Given the description of an element on the screen output the (x, y) to click on. 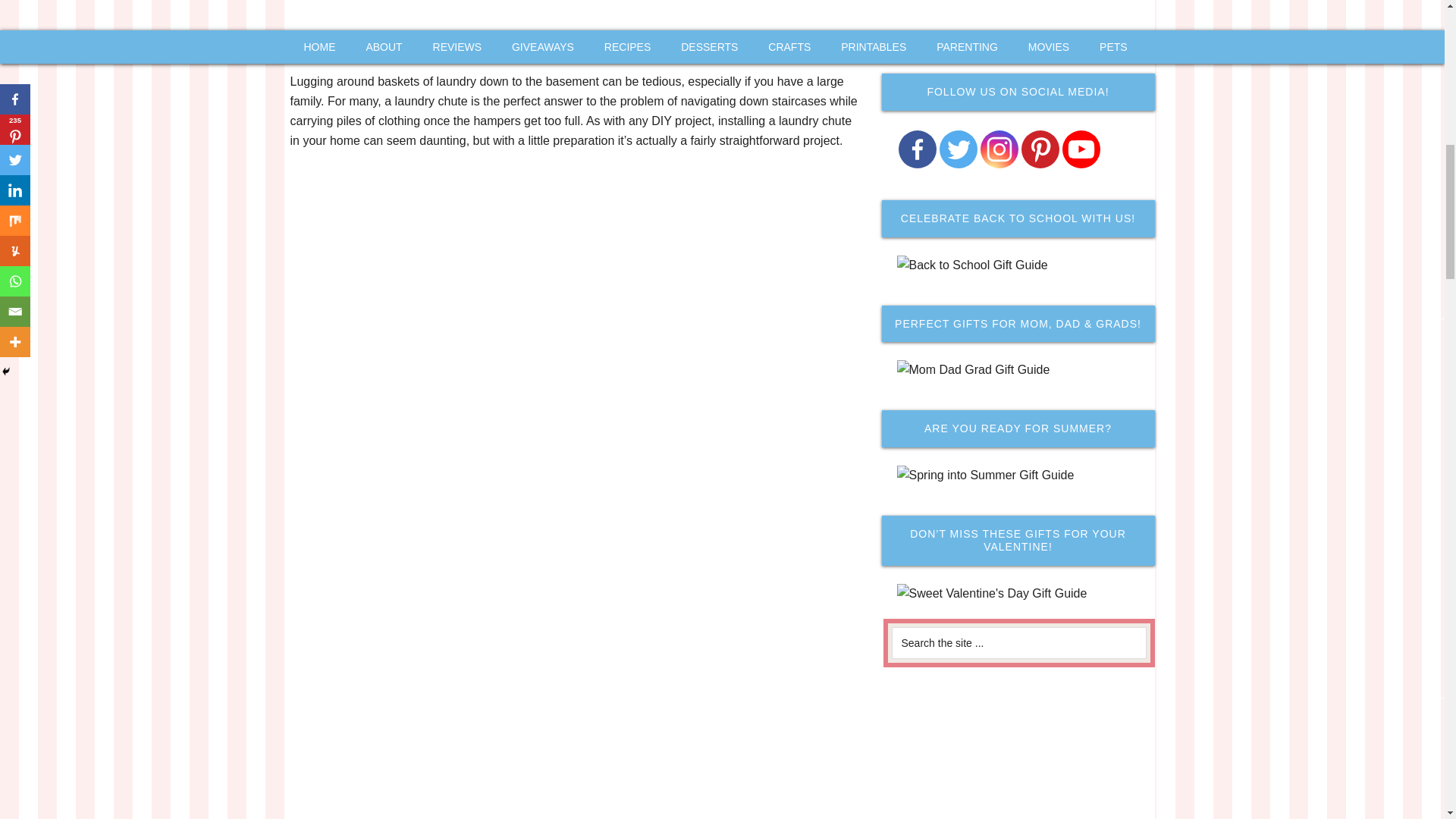
Share on Facebook (376, 45)
Facebook (376, 45)
